Given the description of an element on the screen output the (x, y) to click on. 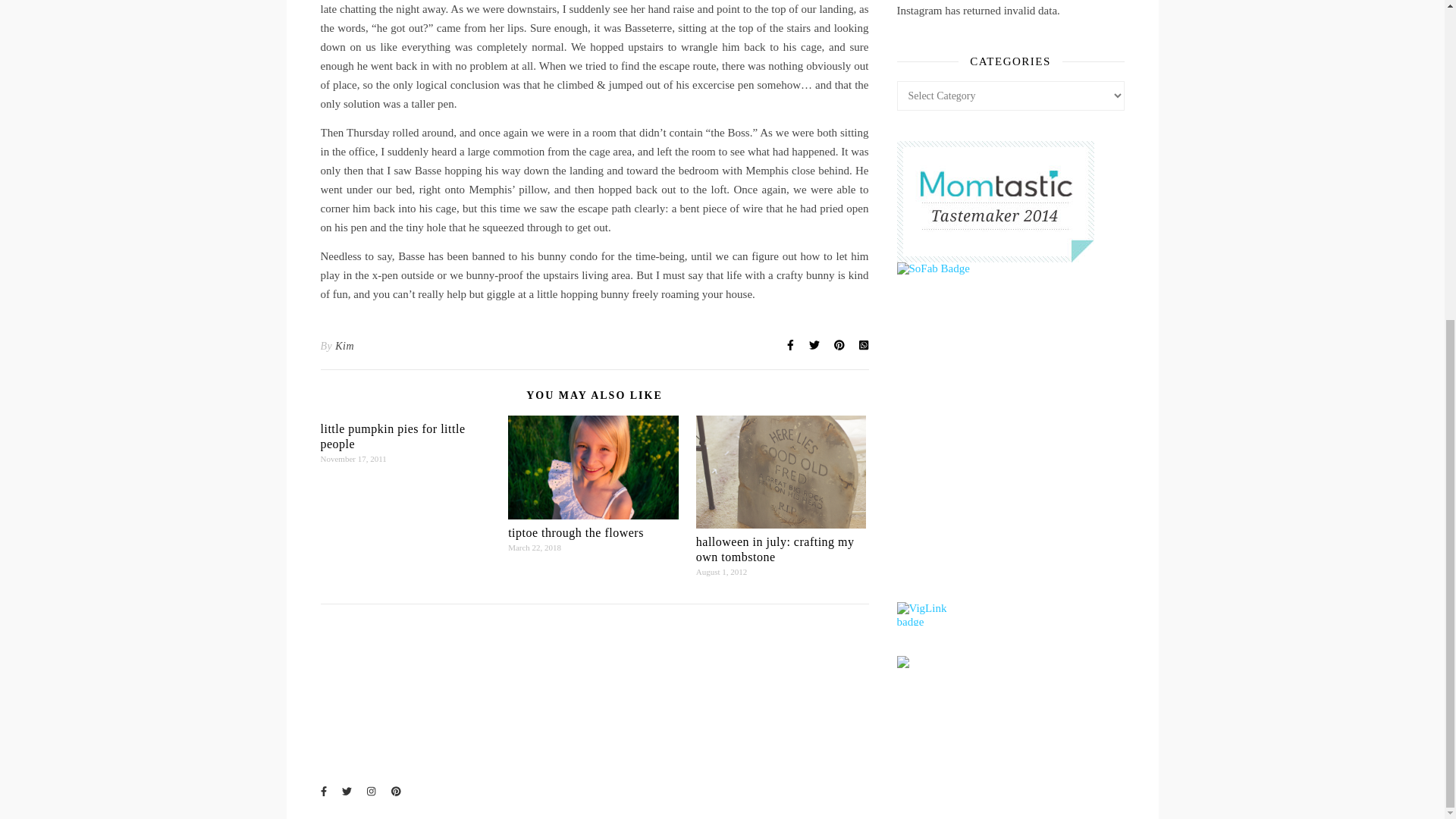
SoFab Badge (1010, 267)
Links monetized by VigLink (929, 613)
